Given the description of an element on the screen output the (x, y) to click on. 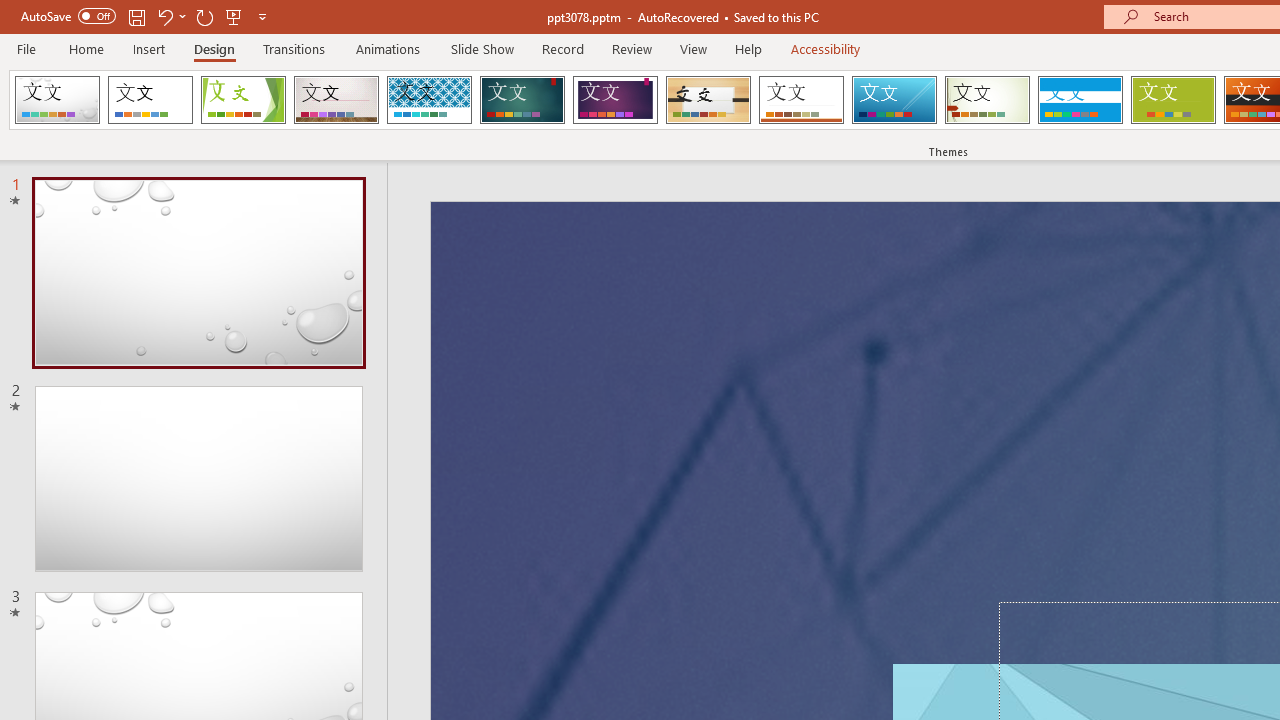
Facet (243, 100)
Damask (57, 100)
Ion Boardroom (615, 100)
Organic (708, 100)
Integral (429, 100)
